Given the description of an element on the screen output the (x, y) to click on. 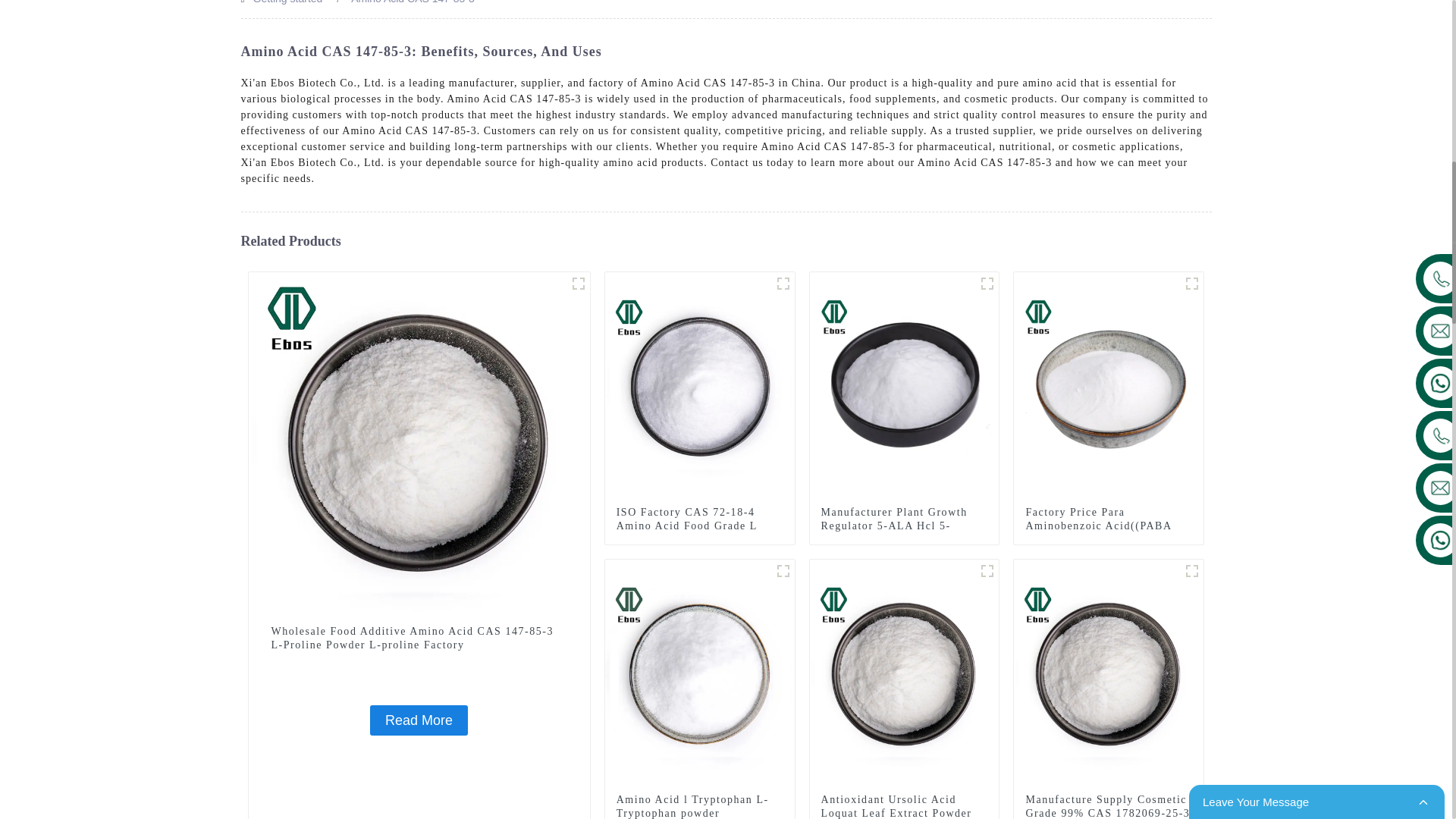
Amino Acid CAS 147-85-3 (412, 2)
Amino Acid l Tryptophan  L-Tryptophan powder (782, 570)
1690765108271 (1192, 282)
Amino Acid l Tryptophan  L-Tryptophan powder (699, 806)
asvav (986, 282)
Getting started (288, 2)
Read More (418, 720)
